Given the description of an element on the screen output the (x, y) to click on. 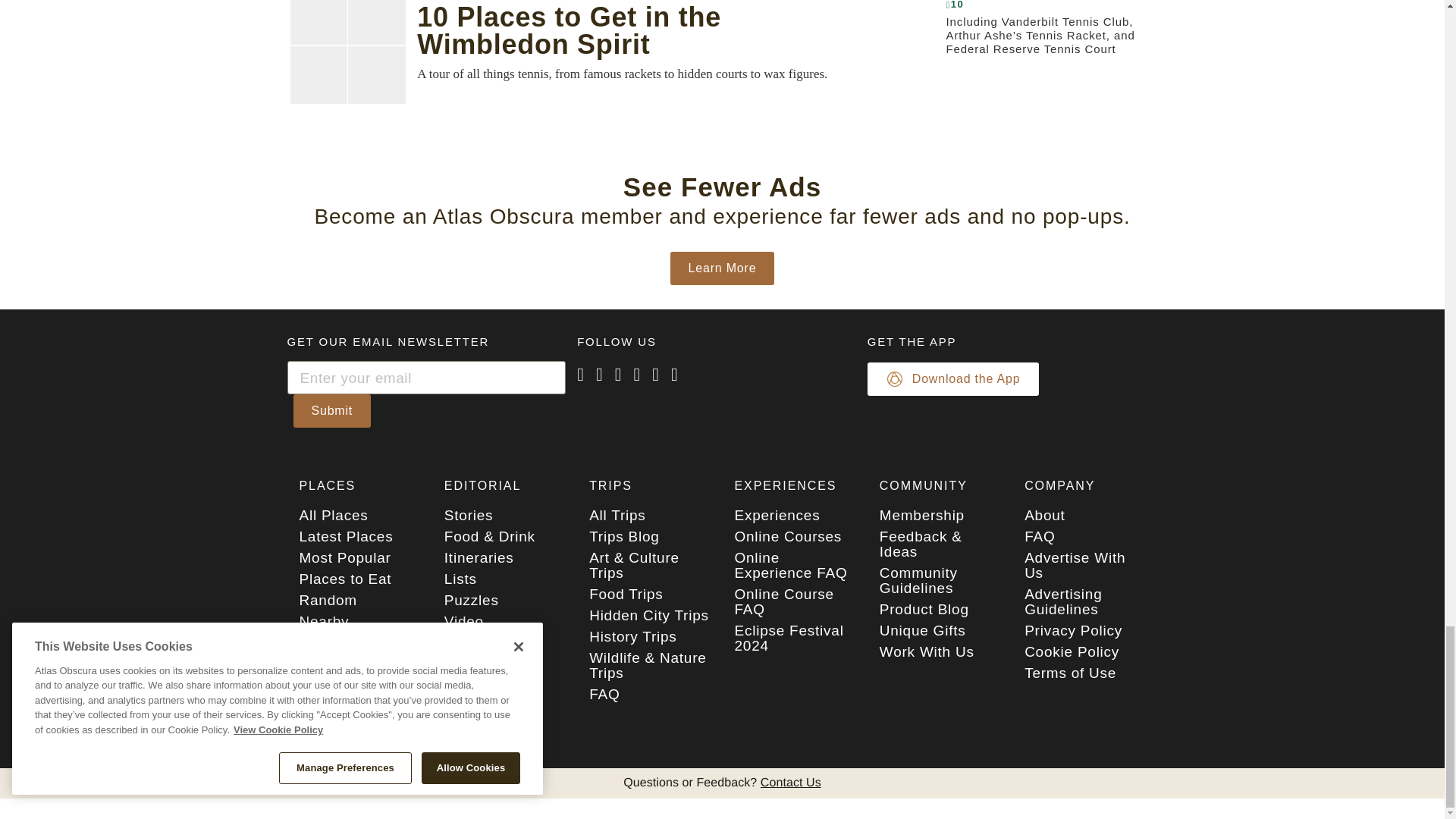
Submit (331, 410)
